Given the description of an element on the screen output the (x, y) to click on. 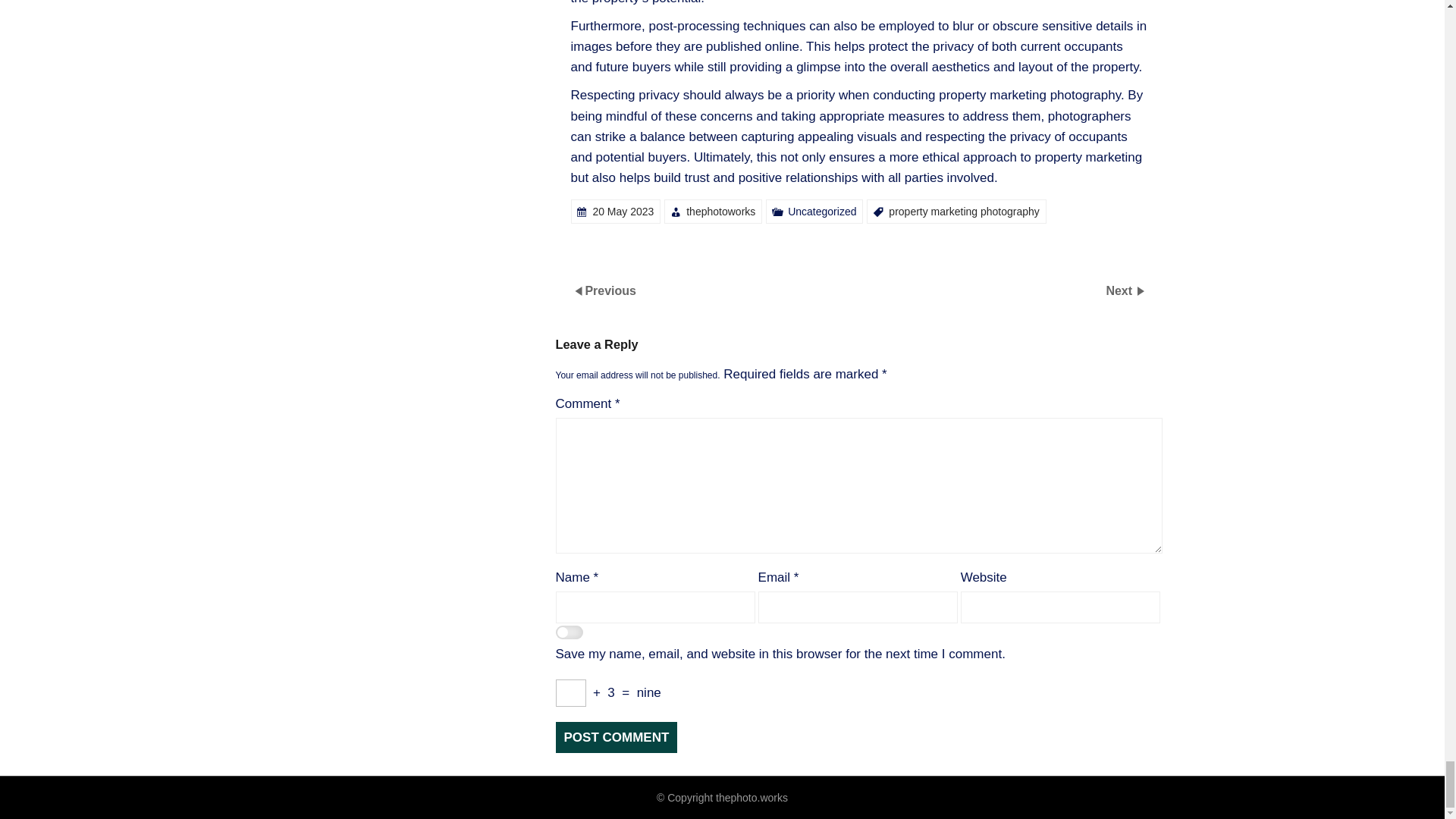
Next (1120, 290)
property marketing photography (963, 211)
yes (568, 633)
thephotoworks (720, 211)
Previous (610, 290)
Post Comment (615, 737)
20 May 2023 (622, 211)
Post Comment (615, 737)
